Given the description of an element on the screen output the (x, y) to click on. 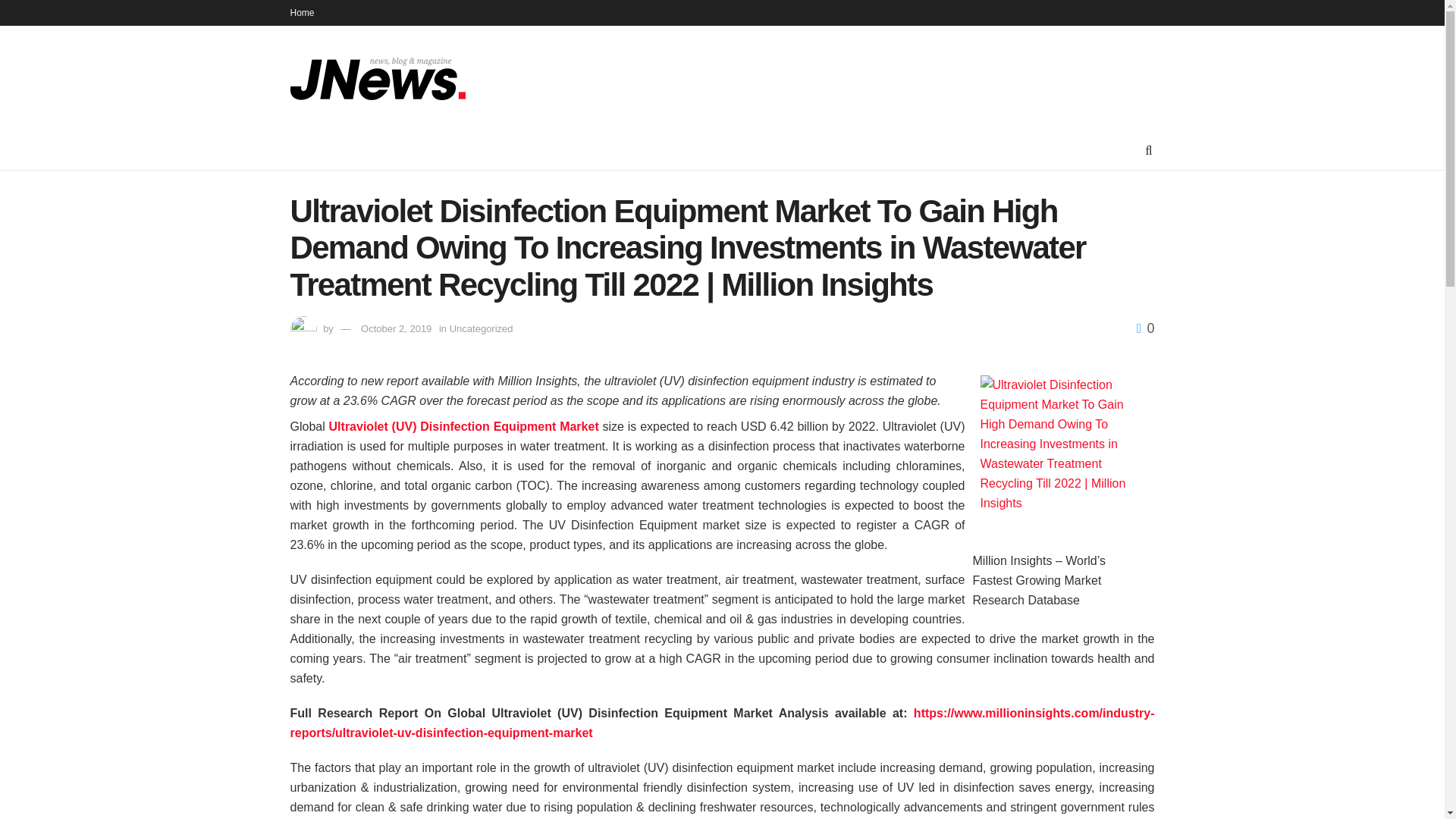
0 (1145, 328)
Home (301, 12)
October 2, 2019 (395, 328)
